Given the description of an element on the screen output the (x, y) to click on. 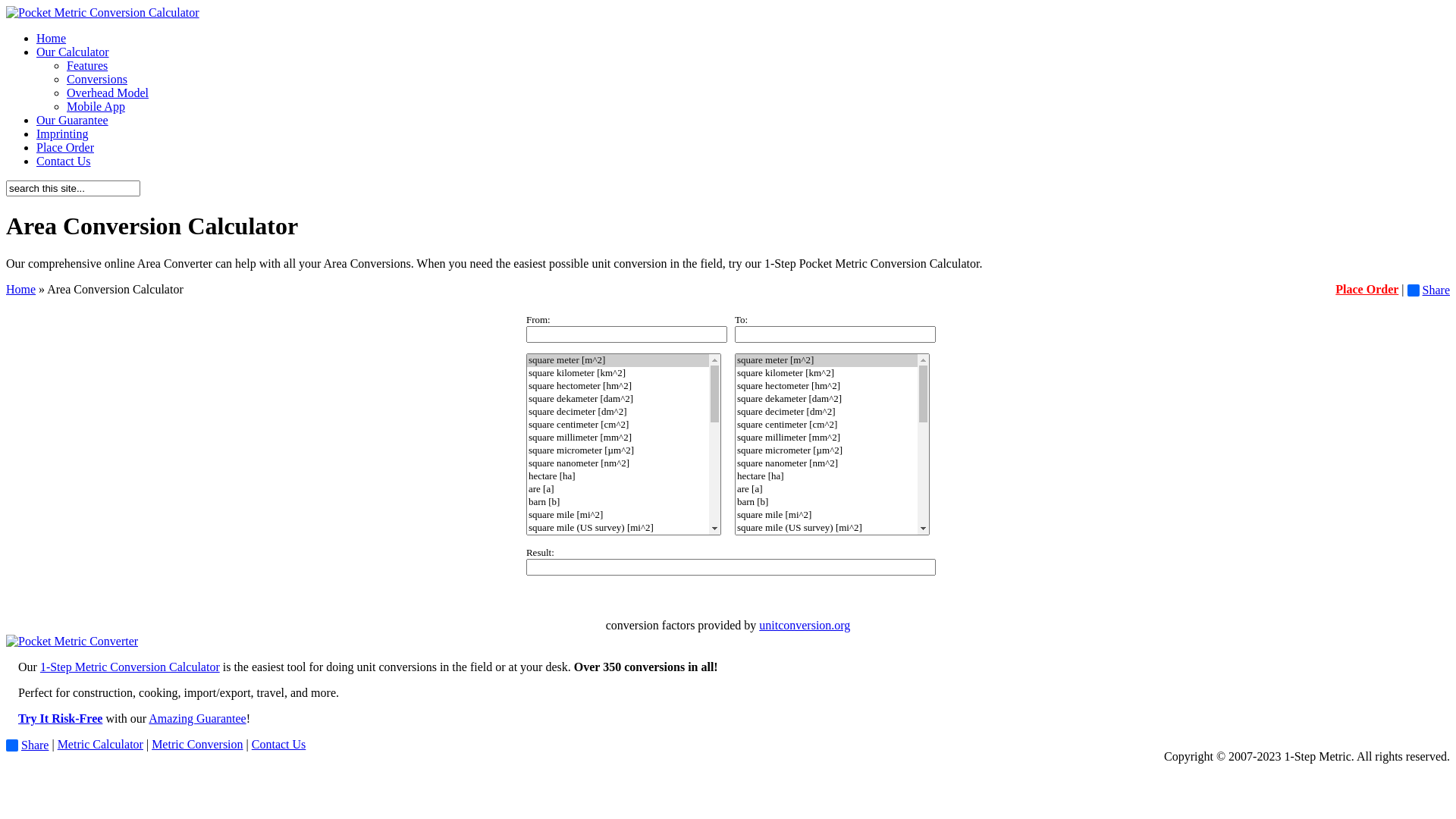
Amazing Guarantee Element type: text (196, 718)
Try It Risk-Free Element type: text (60, 718)
Imprinting Element type: text (61, 133)
Overhead Model Element type: text (107, 92)
1-Step Metric Conversion Calculator Element type: text (129, 666)
Contact Us Element type: text (63, 160)
unitconversion.org Element type: text (804, 624)
Share Element type: text (27, 745)
Home Element type: text (20, 288)
Features Element type: text (86, 65)
Learn More About 1-Step Metric Element type: hover (72, 641)
Metric Calculator Element type: text (100, 743)
Home Element type: text (50, 37)
Conversions Element type: text (96, 78)
Share Element type: text (1428, 290)
Place Order Element type: text (65, 147)
Our Guarantee Element type: text (72, 119)
Our Calculator Element type: text (72, 51)
Mobile App Element type: text (95, 106)
Metric Conversion Element type: text (196, 743)
Place Order Element type: text (1366, 288)
Contact Us Element type: text (278, 743)
